Given the description of an element on the screen output the (x, y) to click on. 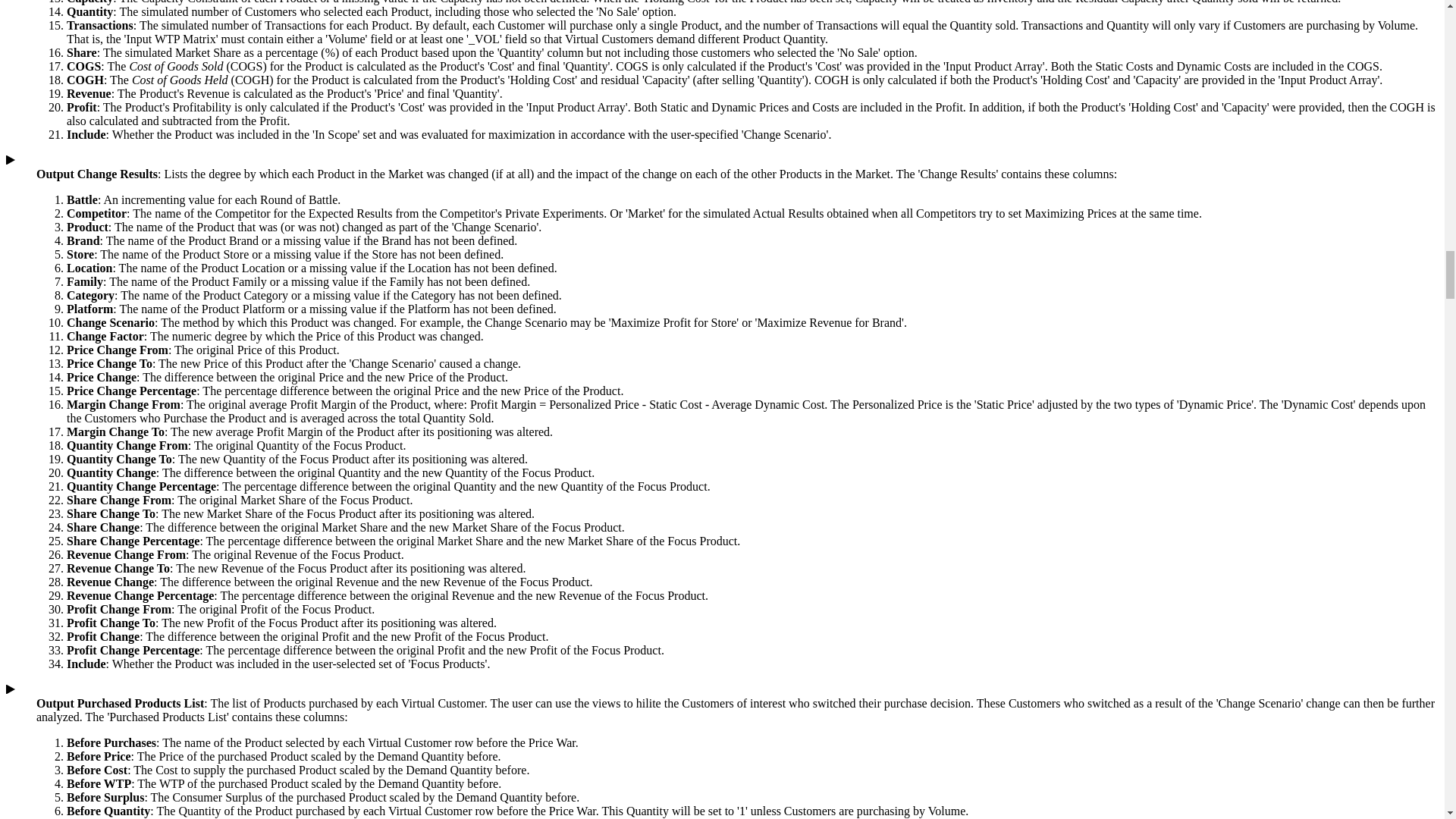
Port 2: Output Purchased Products List (9, 689)
Port 1: Output Change Results (9, 160)
